Given the description of an element on the screen output the (x, y) to click on. 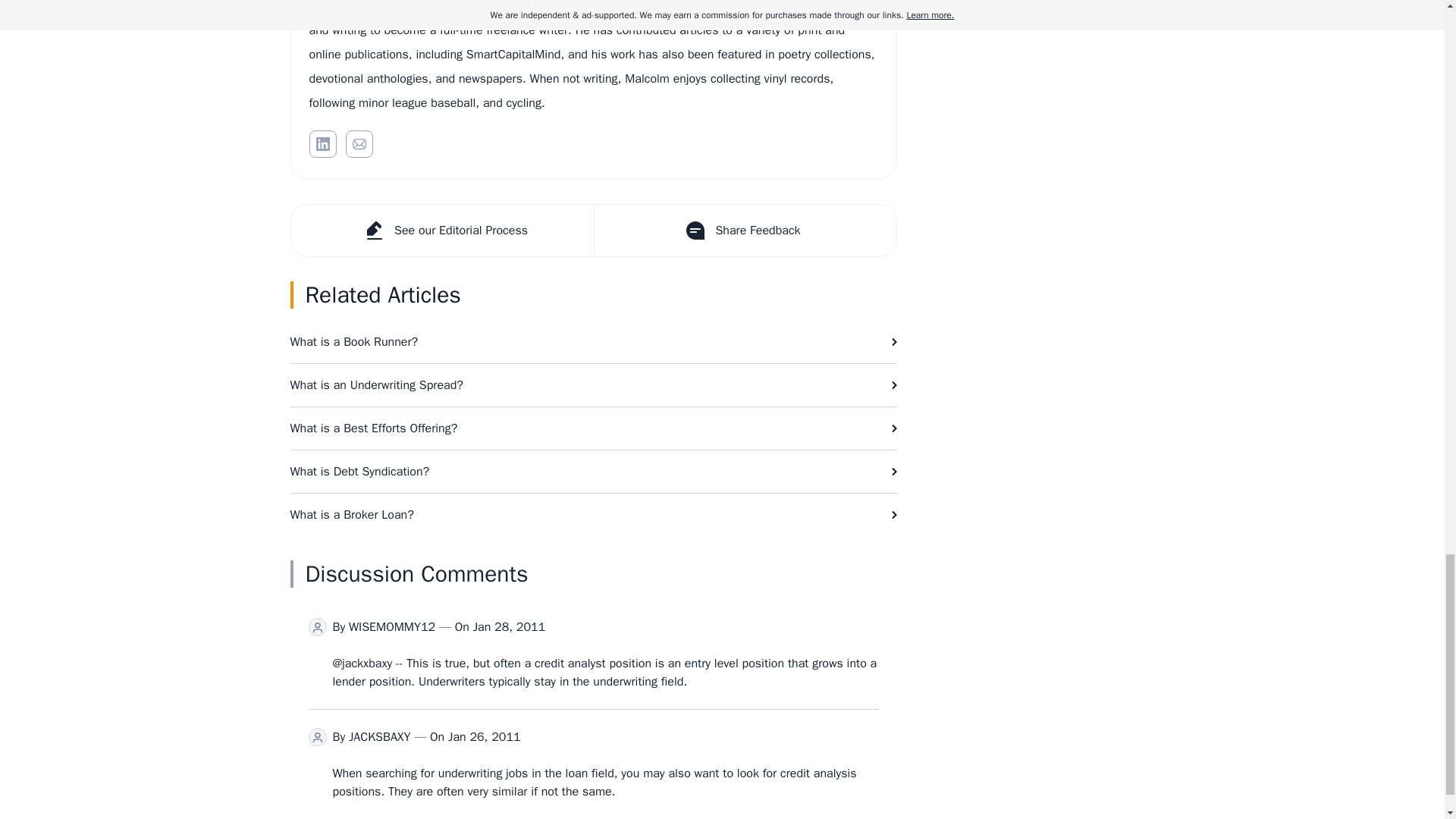
See our Editorial Process (442, 230)
